Given the description of an element on the screen output the (x, y) to click on. 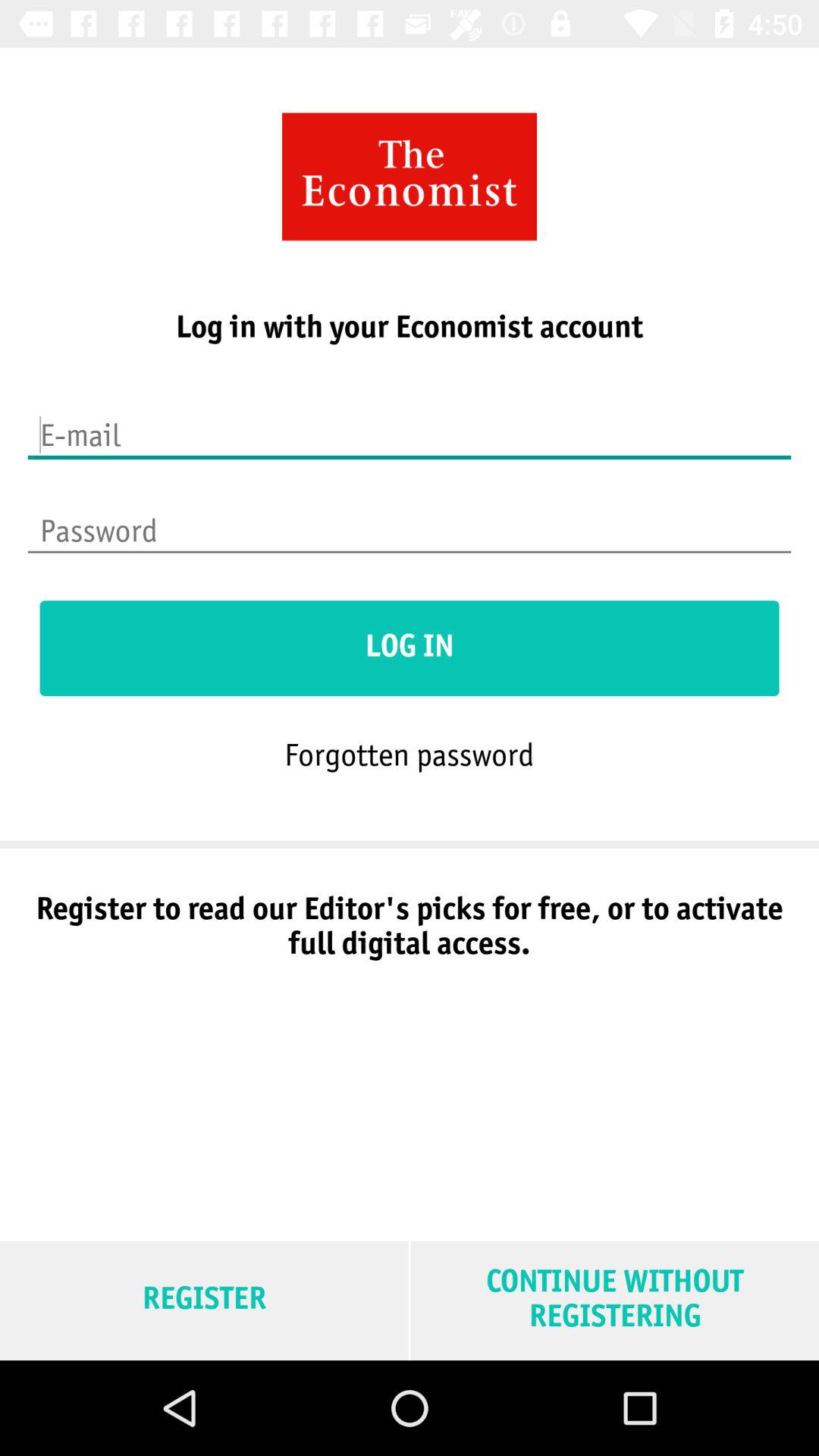
select icon below the log in (409, 753)
